Given the description of an element on the screen output the (x, y) to click on. 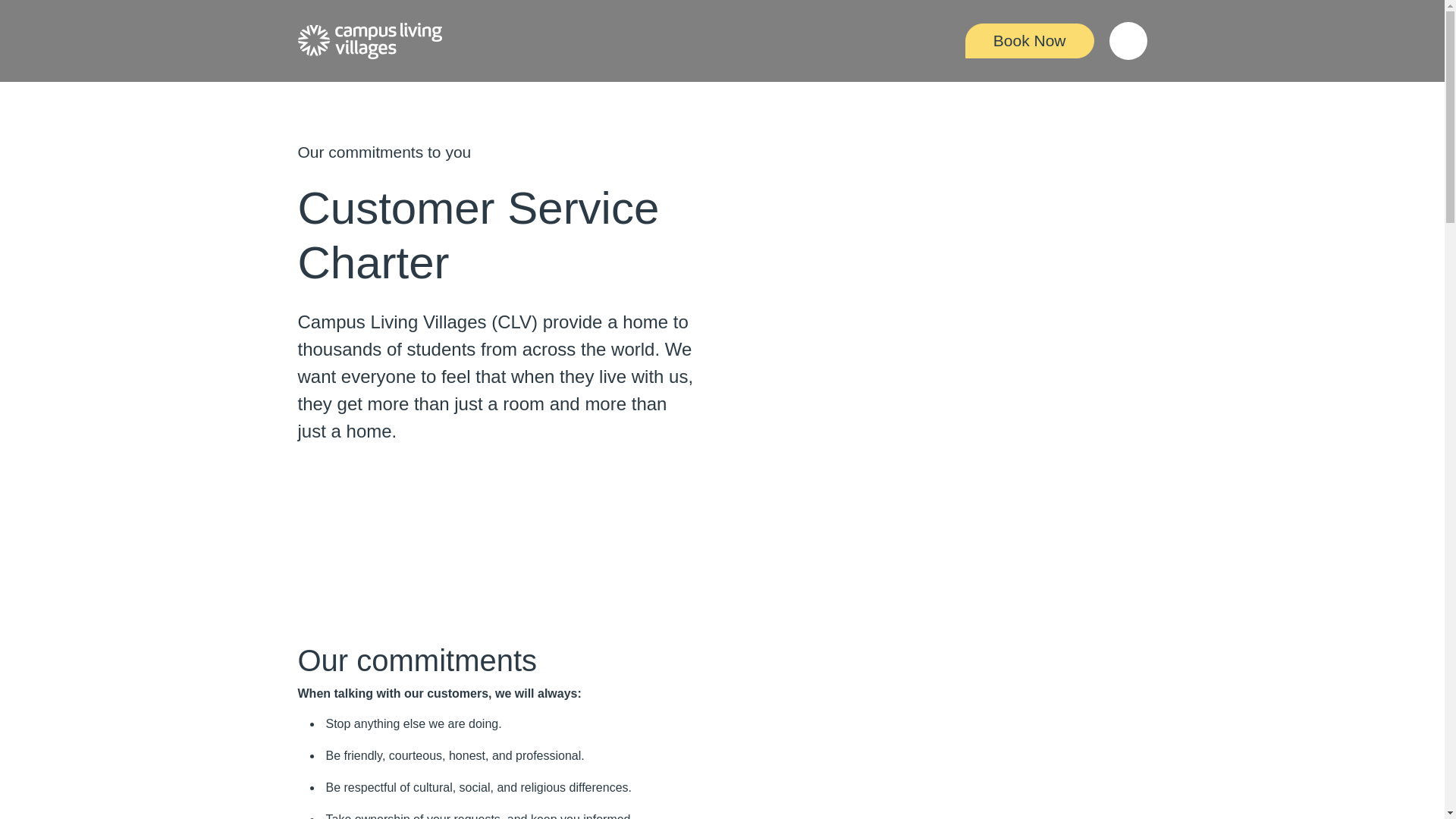
Book Now (1029, 40)
